Given the description of an element on the screen output the (x, y) to click on. 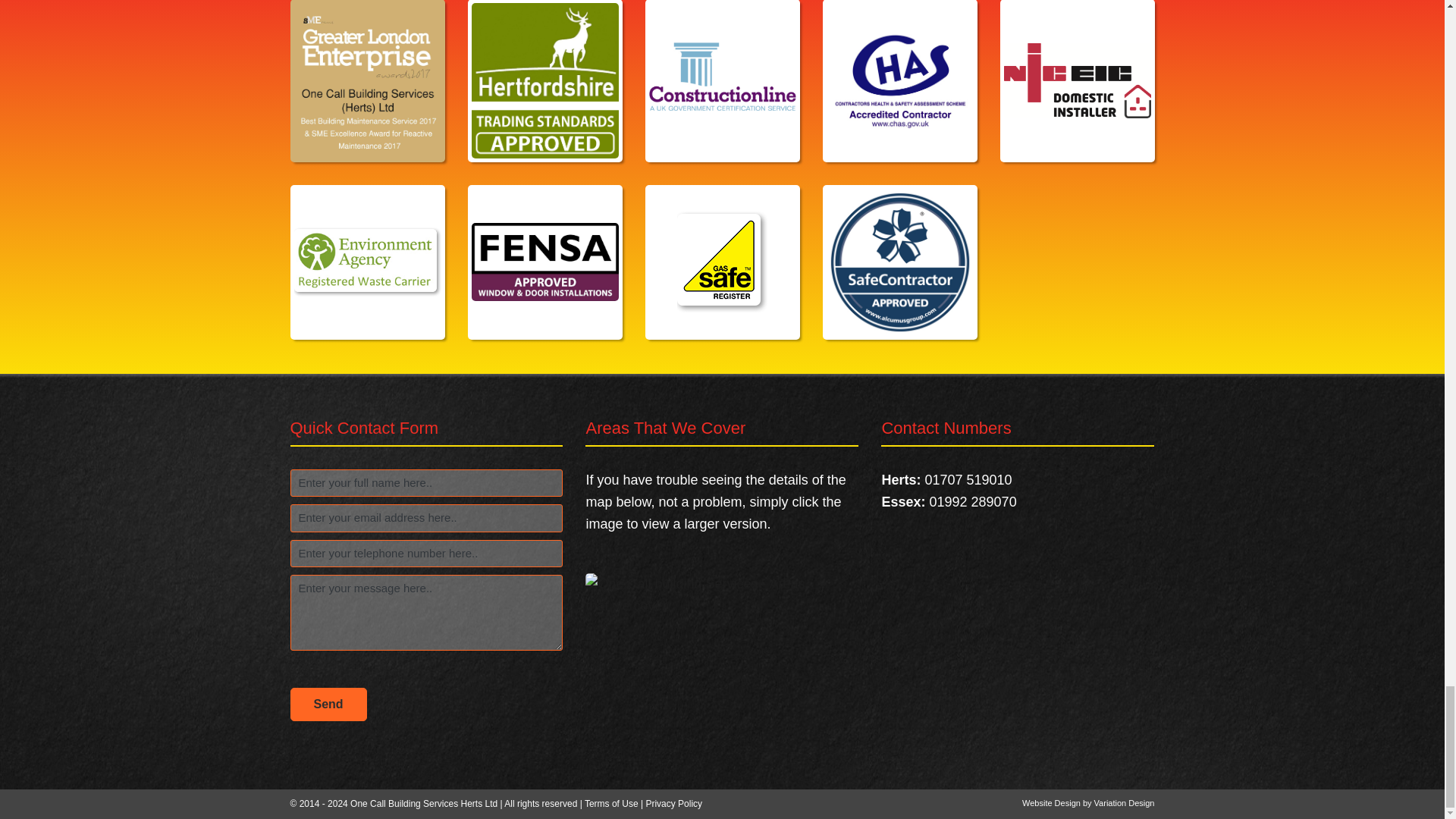
Send (327, 704)
